Given the description of an element on the screen output the (x, y) to click on. 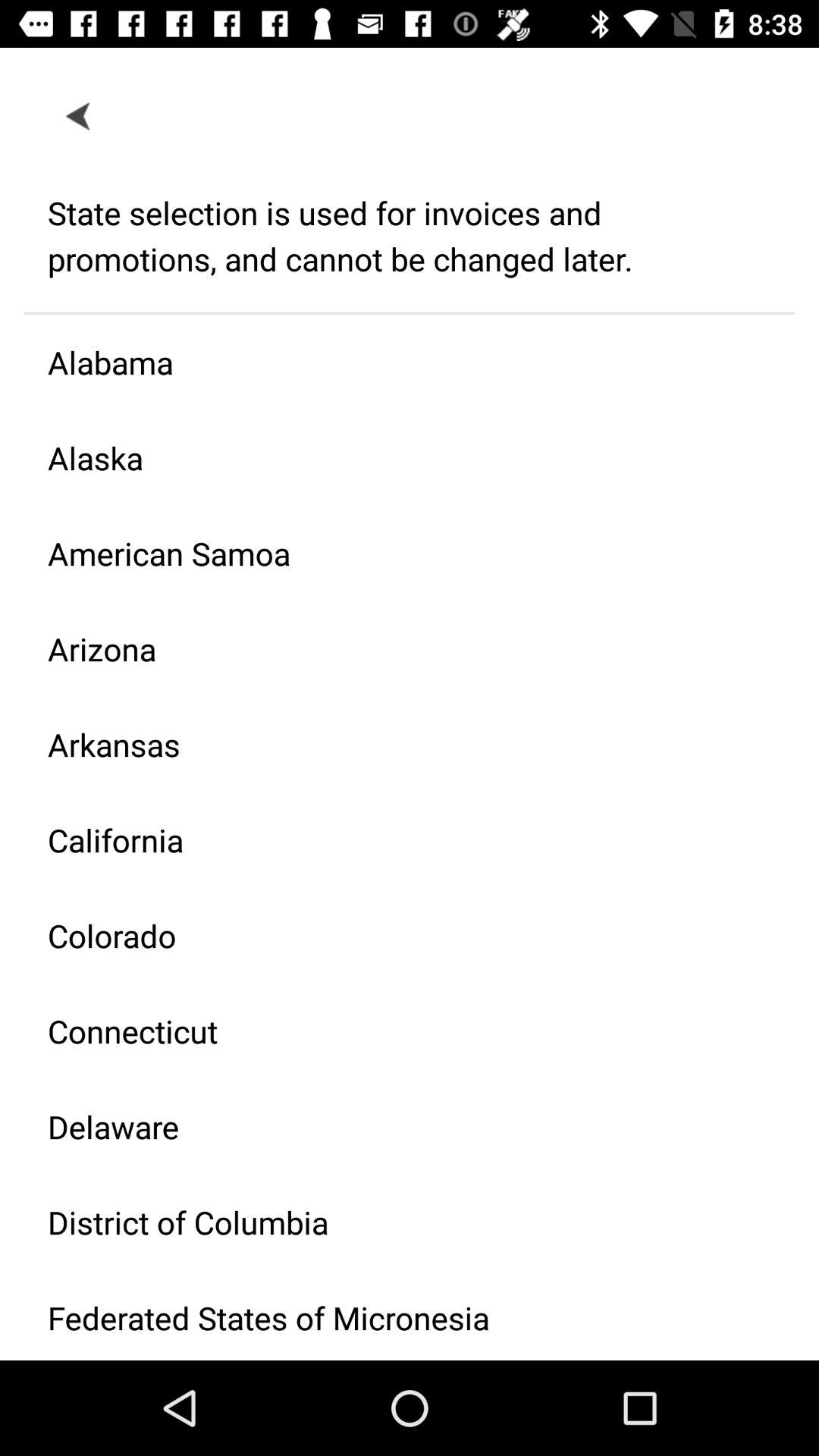
turn on item at the top left corner (79, 115)
